Given the description of an element on the screen output the (x, y) to click on. 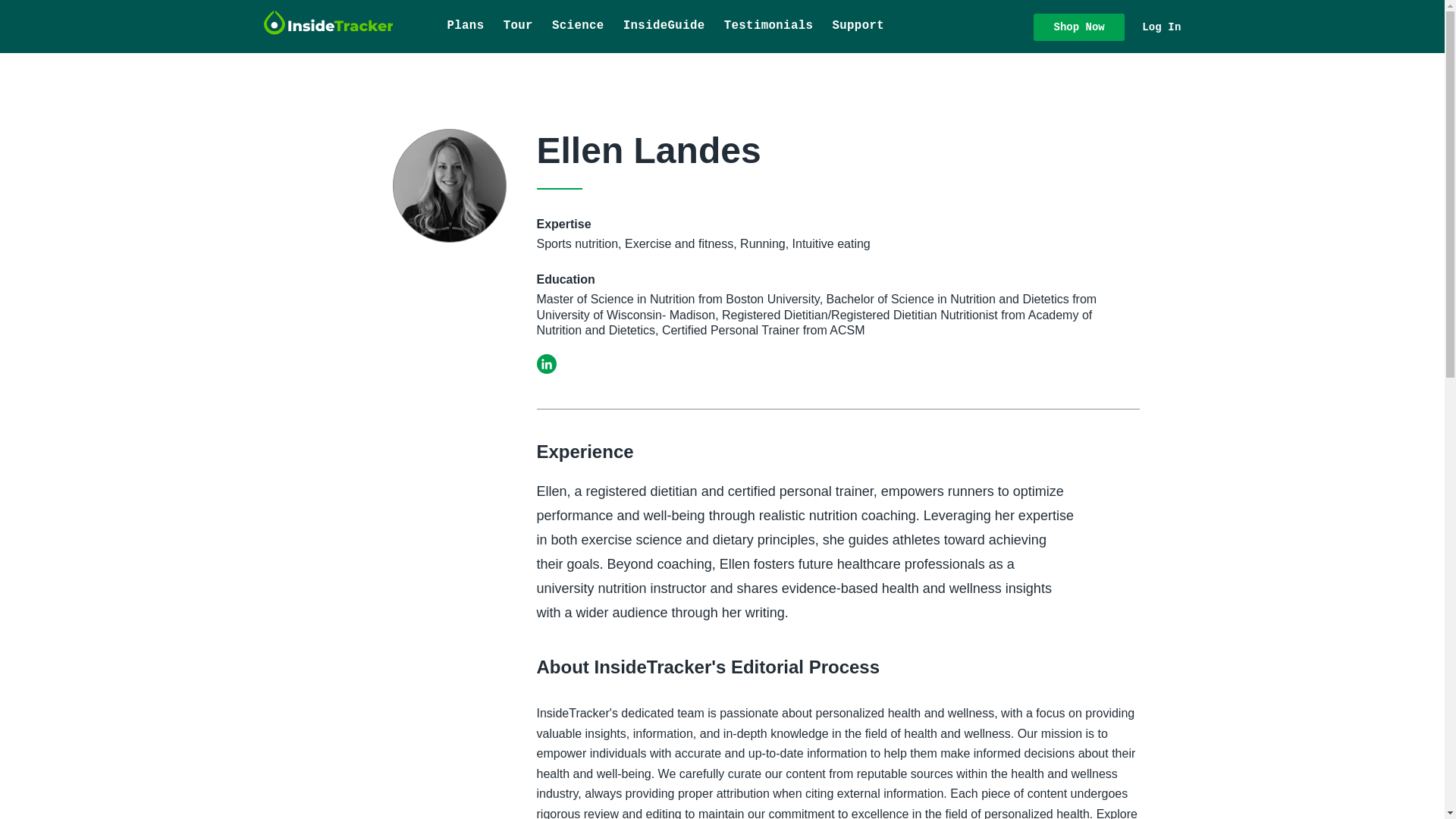
Log In (1160, 27)
Tour (517, 27)
Testimonials (768, 27)
Shop Now (1078, 26)
Science (576, 27)
Plans (465, 27)
Support (857, 27)
InsideGuide (663, 27)
